Given the description of an element on the screen output the (x, y) to click on. 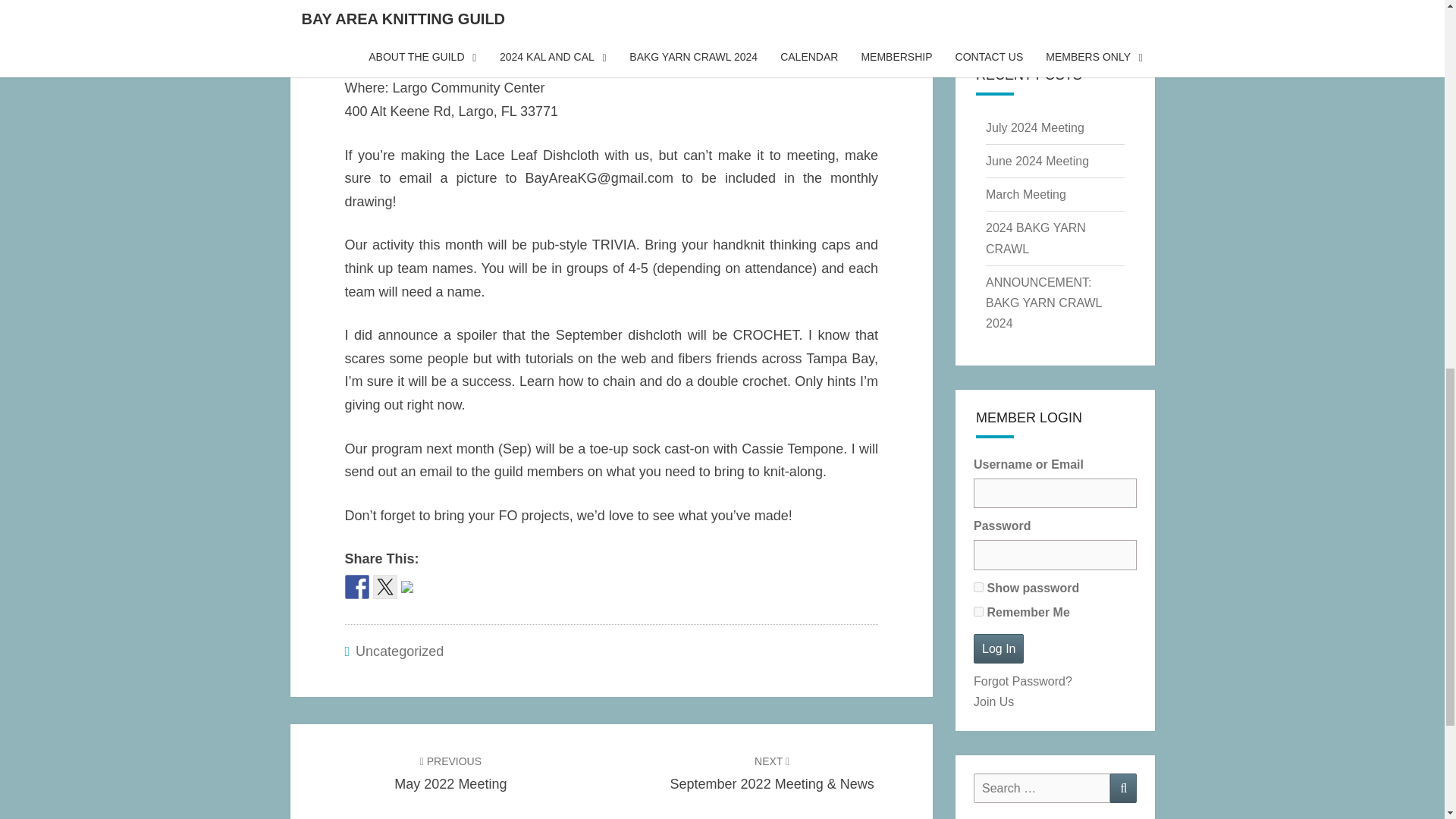
ANNOUNCEMENT: BAKG YARN CRAWL 2024 (1043, 303)
on (979, 587)
Log In (998, 648)
Share on Facebook (355, 586)
Uncategorized (399, 651)
June 2024 Meeting (1037, 160)
Share on Twitter (384, 586)
on (450, 771)
Log In (979, 611)
